Given the description of an element on the screen output the (x, y) to click on. 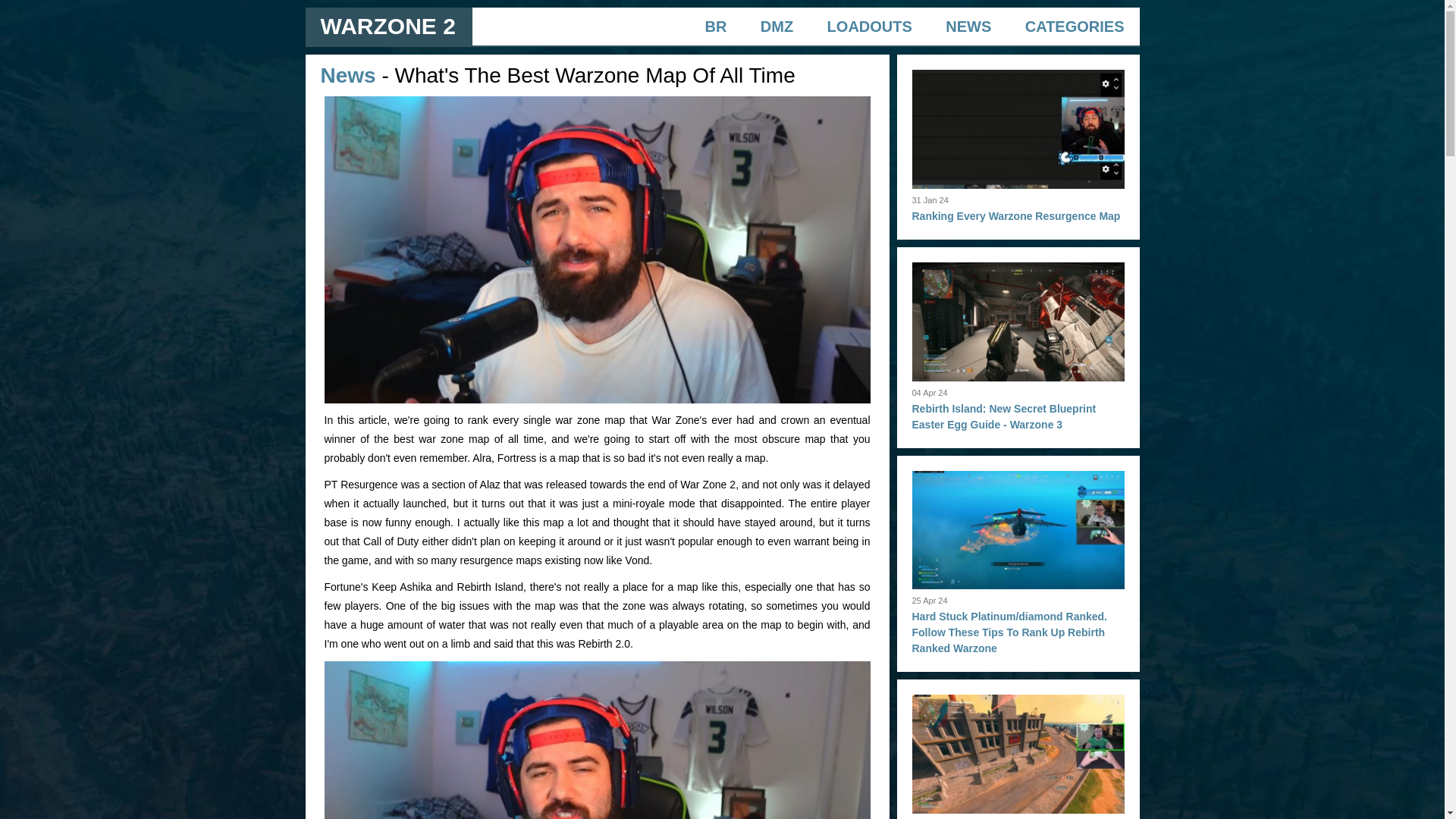
WARZONE 2 (387, 26)
cod (597, 739)
DMZ (776, 26)
News (347, 74)
LOADOUTS (869, 26)
BR (715, 26)
NEWS (967, 26)
CATEGORIES (1074, 26)
Ranking Every Warzone Resurgence Map (1015, 215)
